Given the description of an element on the screen output the (x, y) to click on. 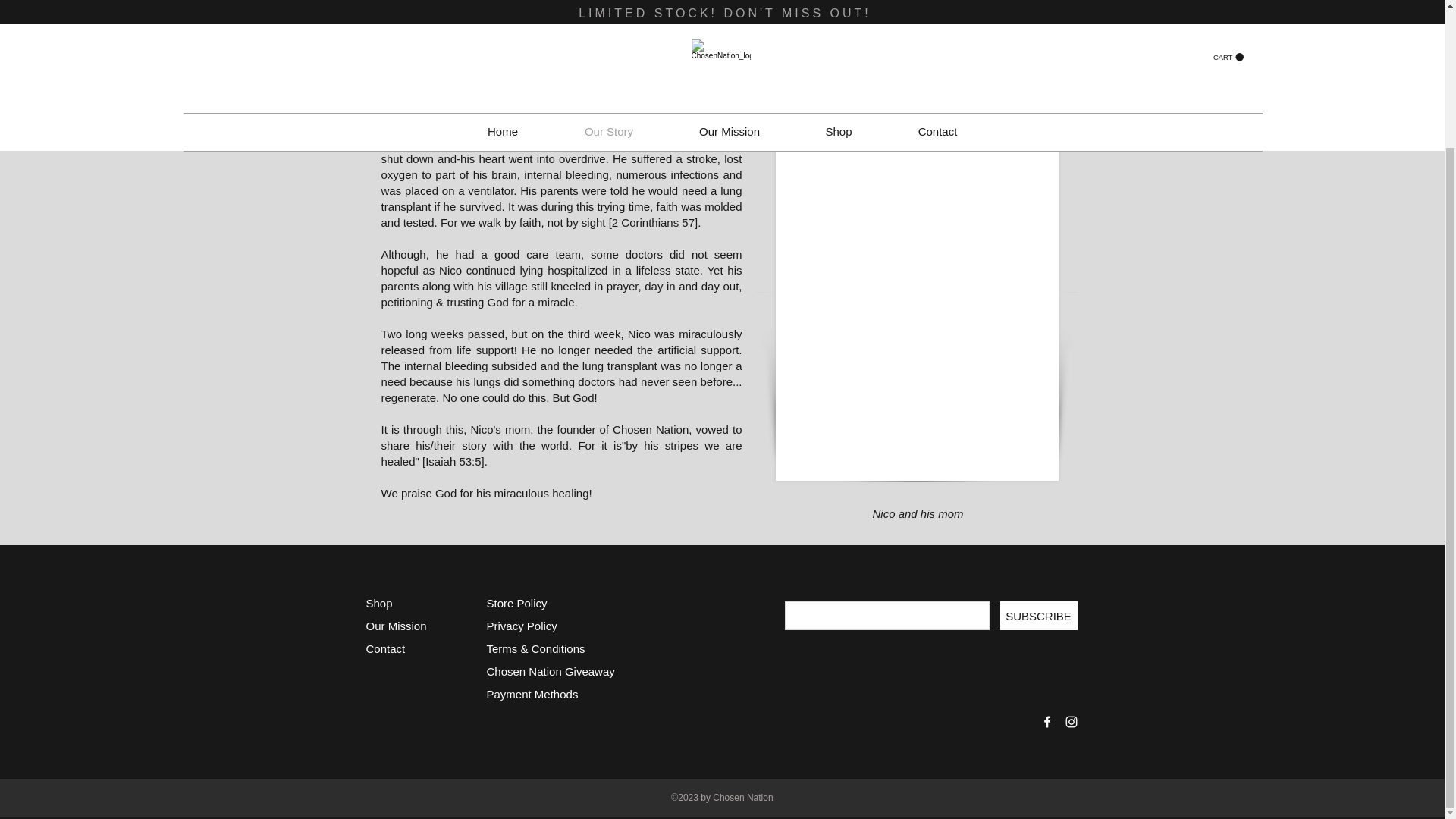
Store Policy (516, 603)
SUBSCRIBE (1037, 615)
Our Mission (395, 625)
Chosen Nation Giveaway (550, 671)
Privacy Policy (521, 625)
Shop (378, 603)
Payment Methods  (533, 694)
Contact (384, 648)
